Given the description of an element on the screen output the (x, y) to click on. 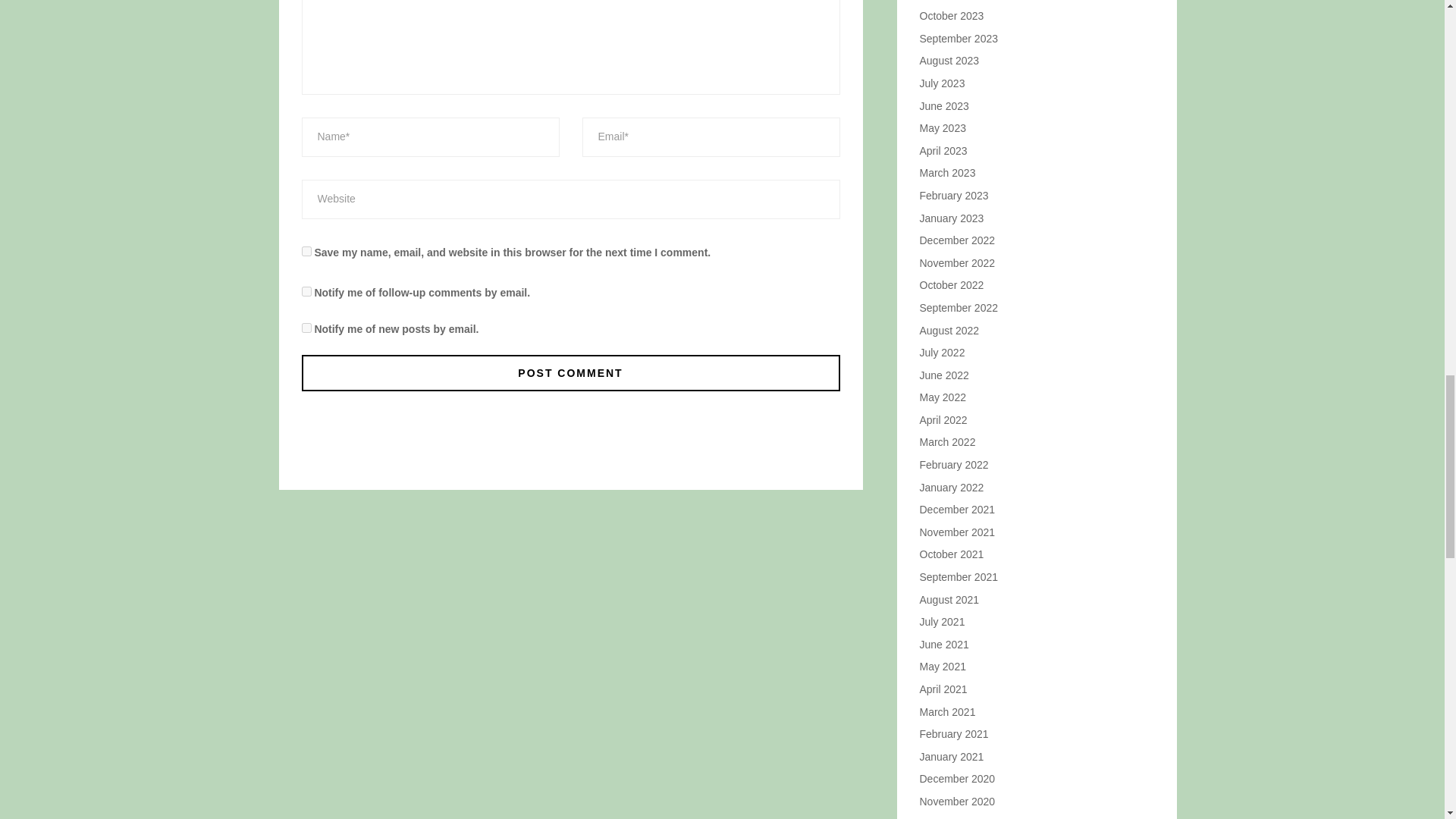
yes (306, 251)
subscribe (306, 291)
Post Comment (570, 372)
subscribe (306, 327)
